Given the description of an element on the screen output the (x, y) to click on. 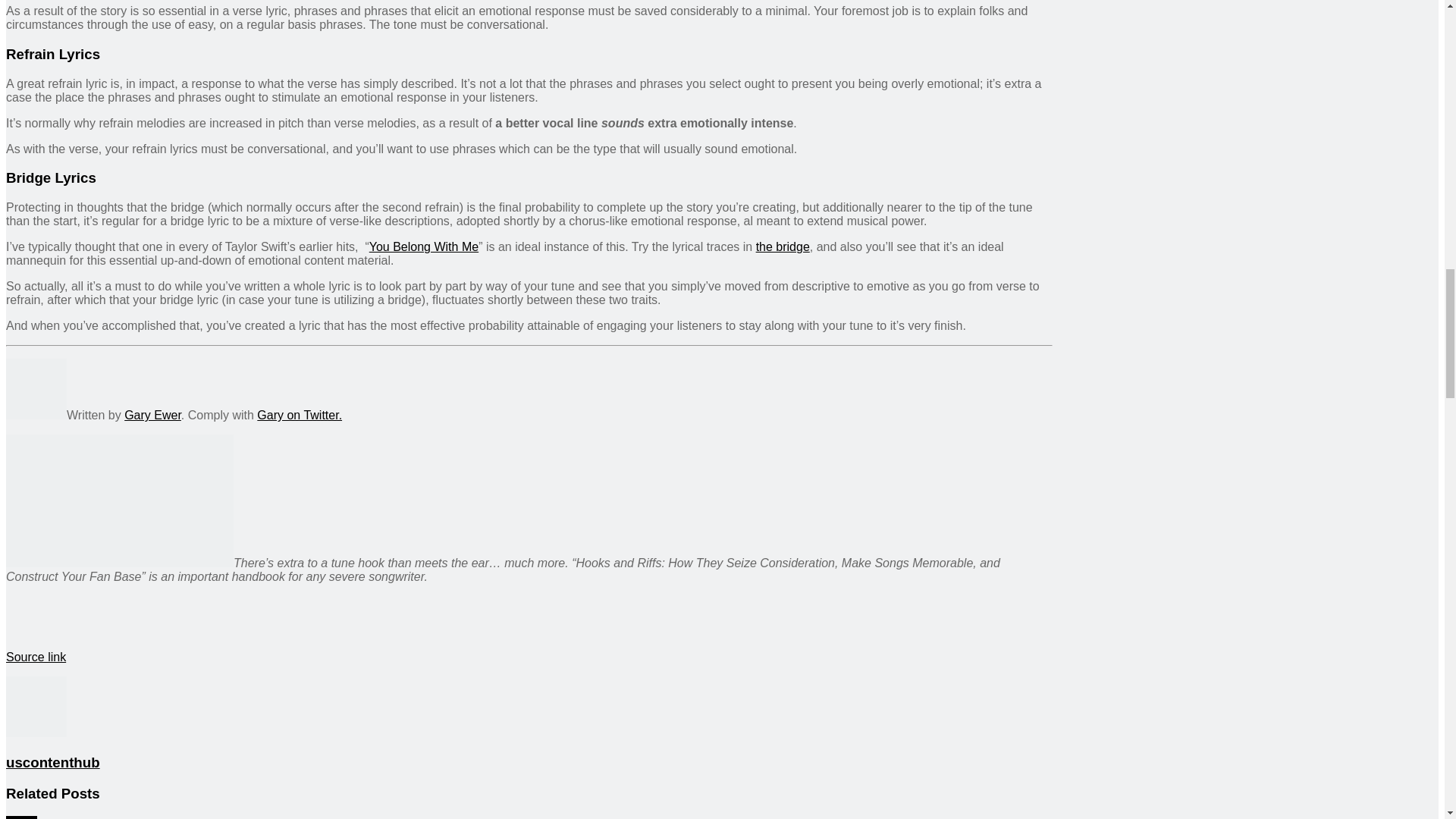
Gary Ewer (151, 414)
Source link (35, 656)
the bridge (782, 246)
You Belong With Me (424, 246)
Gary on Twitter. (299, 414)
